Given the description of an element on the screen output the (x, y) to click on. 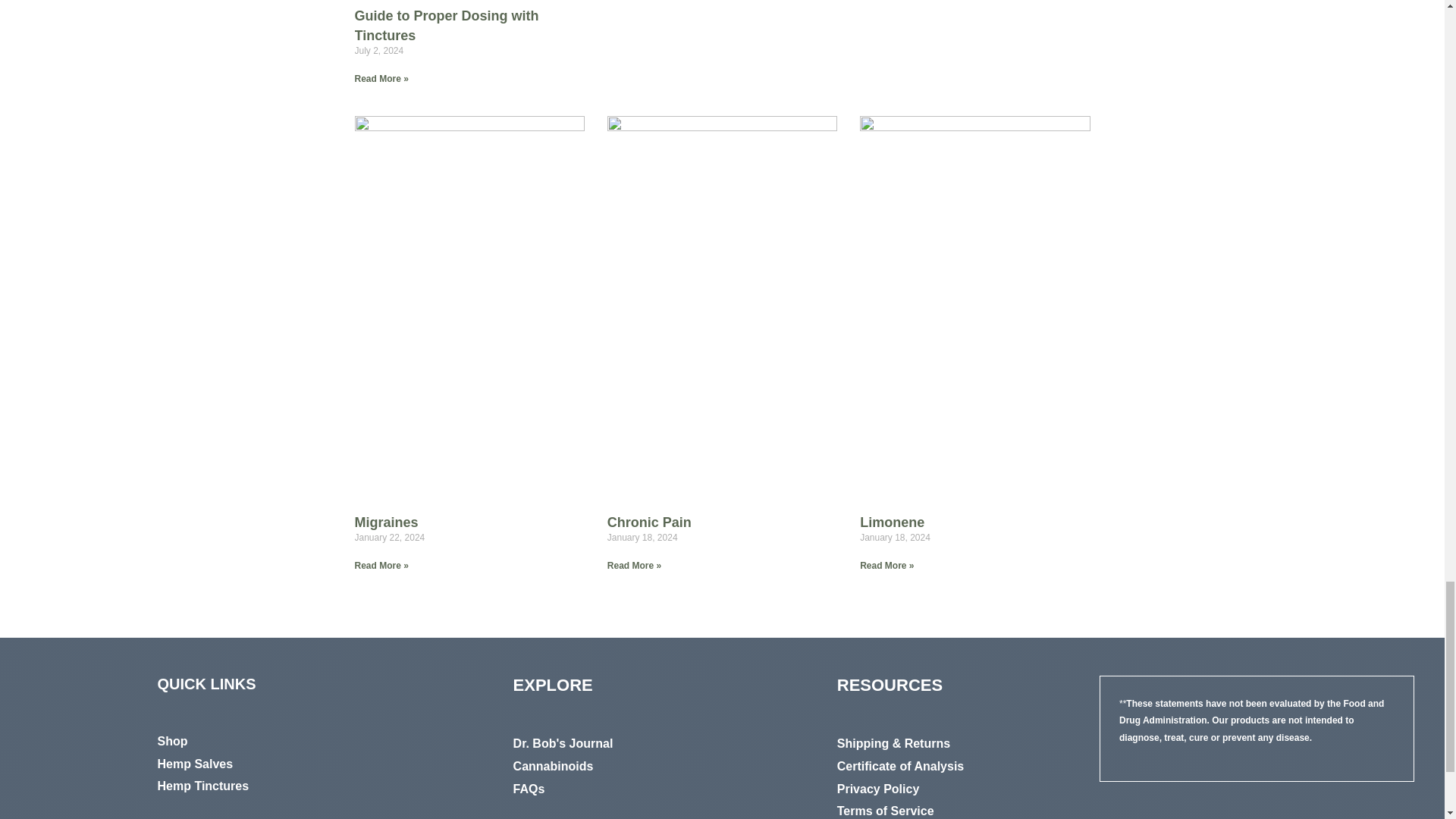
Chronic Pain (649, 522)
Limonene (892, 522)
Guide to Proper Dosing with Tinctures (446, 25)
Migraines (387, 522)
